Given the description of an element on the screen output the (x, y) to click on. 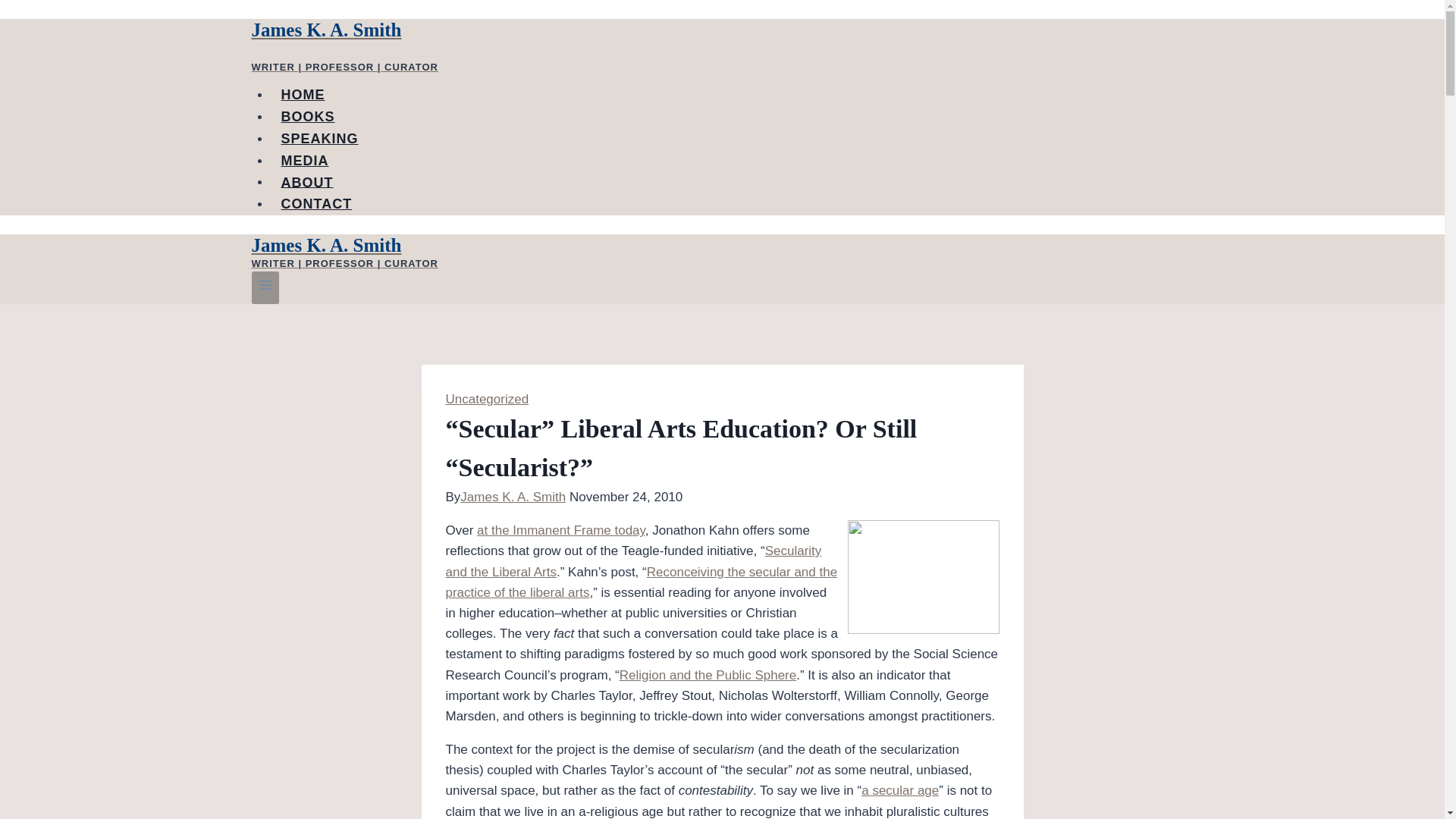
Uncategorized (487, 399)
at the Immanent Frame today (561, 530)
BOOKS (307, 116)
a secular age (900, 789)
SPEAKING (319, 138)
ABOUT (306, 183)
James K. A. Smith (513, 496)
Religion and the Public Sphere (708, 675)
HOME (302, 94)
